Given the description of an element on the screen output the (x, y) to click on. 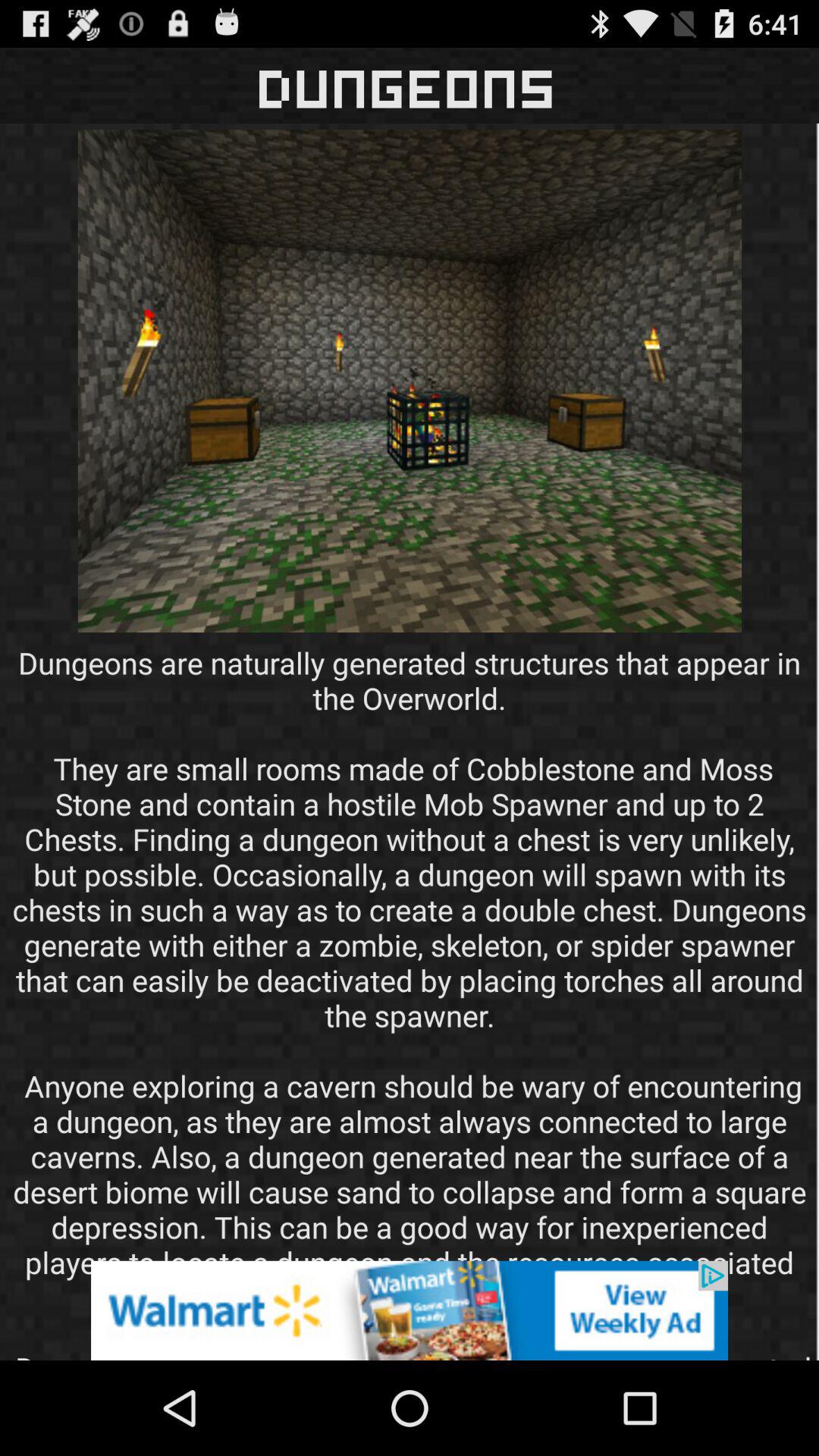
walmart advertisement link (409, 1310)
